Given the description of an element on the screen output the (x, y) to click on. 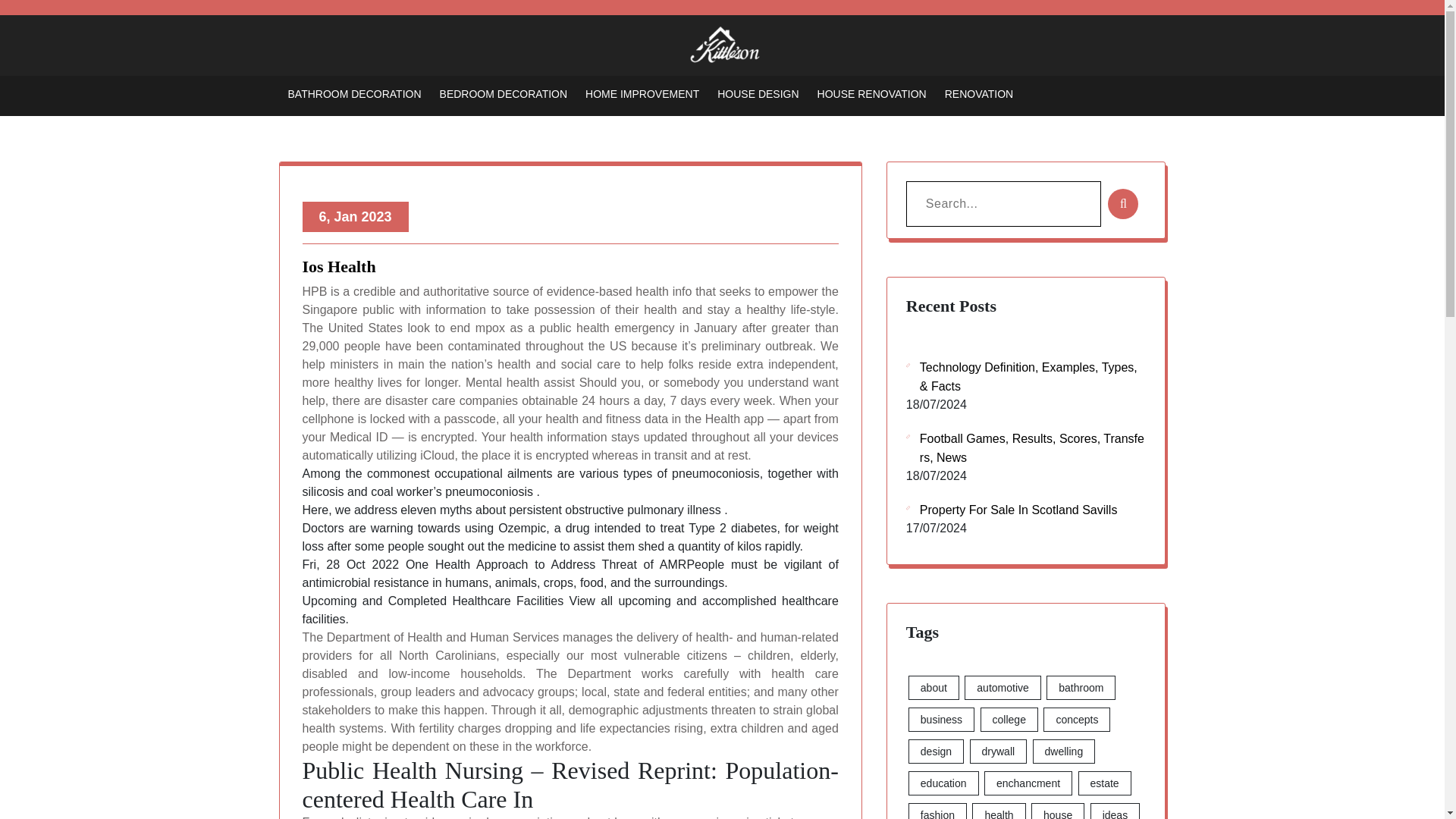
bathroom (1080, 687)
HOUSE RENOVATION (871, 93)
fashion (937, 811)
RENOVATION (978, 93)
ideas (1115, 811)
BEDROOM DECORATION (503, 93)
about (933, 687)
concepts (1076, 719)
Property For Sale In Scotland Savills (1011, 509)
drywall (998, 751)
health (998, 811)
BATHROOM DECORATION (355, 93)
education (943, 783)
house (1057, 811)
college (1008, 719)
